Given the description of an element on the screen output the (x, y) to click on. 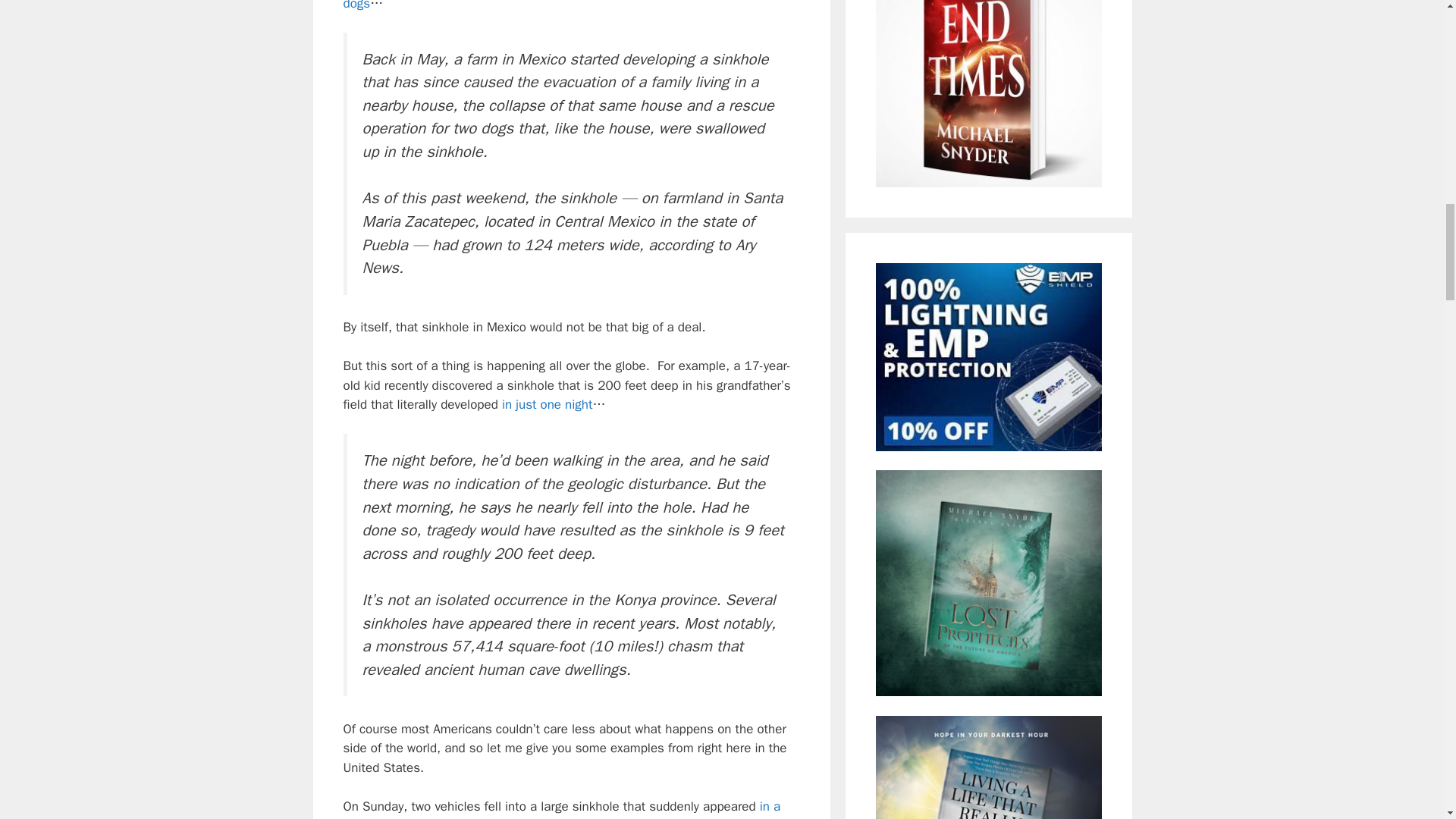
in a key section of Manhattan (561, 808)
in just one night (547, 404)
a house and two dogs (549, 5)
in just one night (547, 404)
in a key section of Manhattan (561, 808)
a house and two dogs (549, 5)
